Given the description of an element on the screen output the (x, y) to click on. 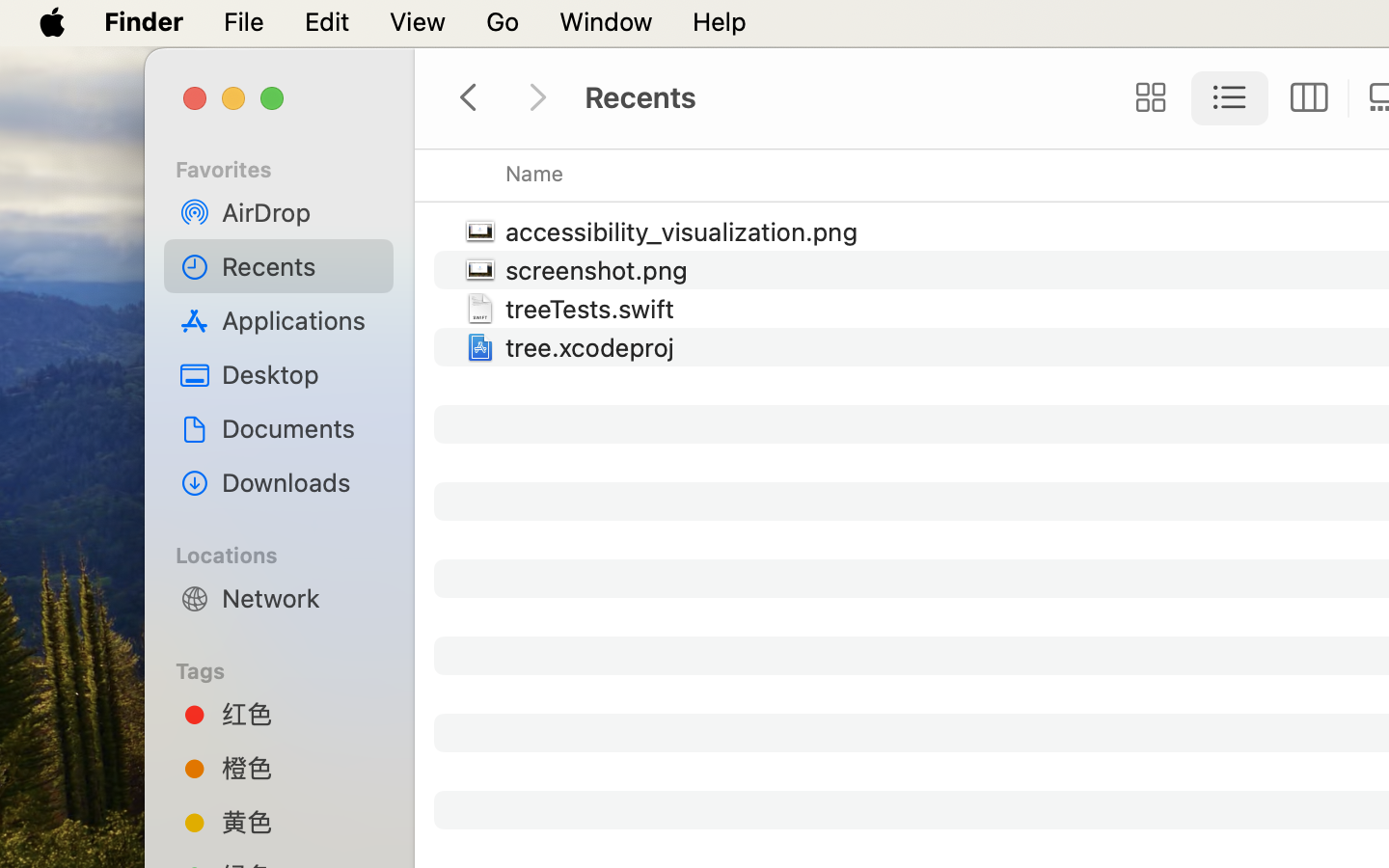
tree.xcodeproj Element type: AXTextField (593, 346)
AirDrop Element type: AXStaticText (299, 211)
Downloads Element type: AXStaticText (299, 481)
Name Element type: AXStaticText (535, 173)
Applications Element type: AXStaticText (299, 319)
